Given the description of an element on the screen output the (x, y) to click on. 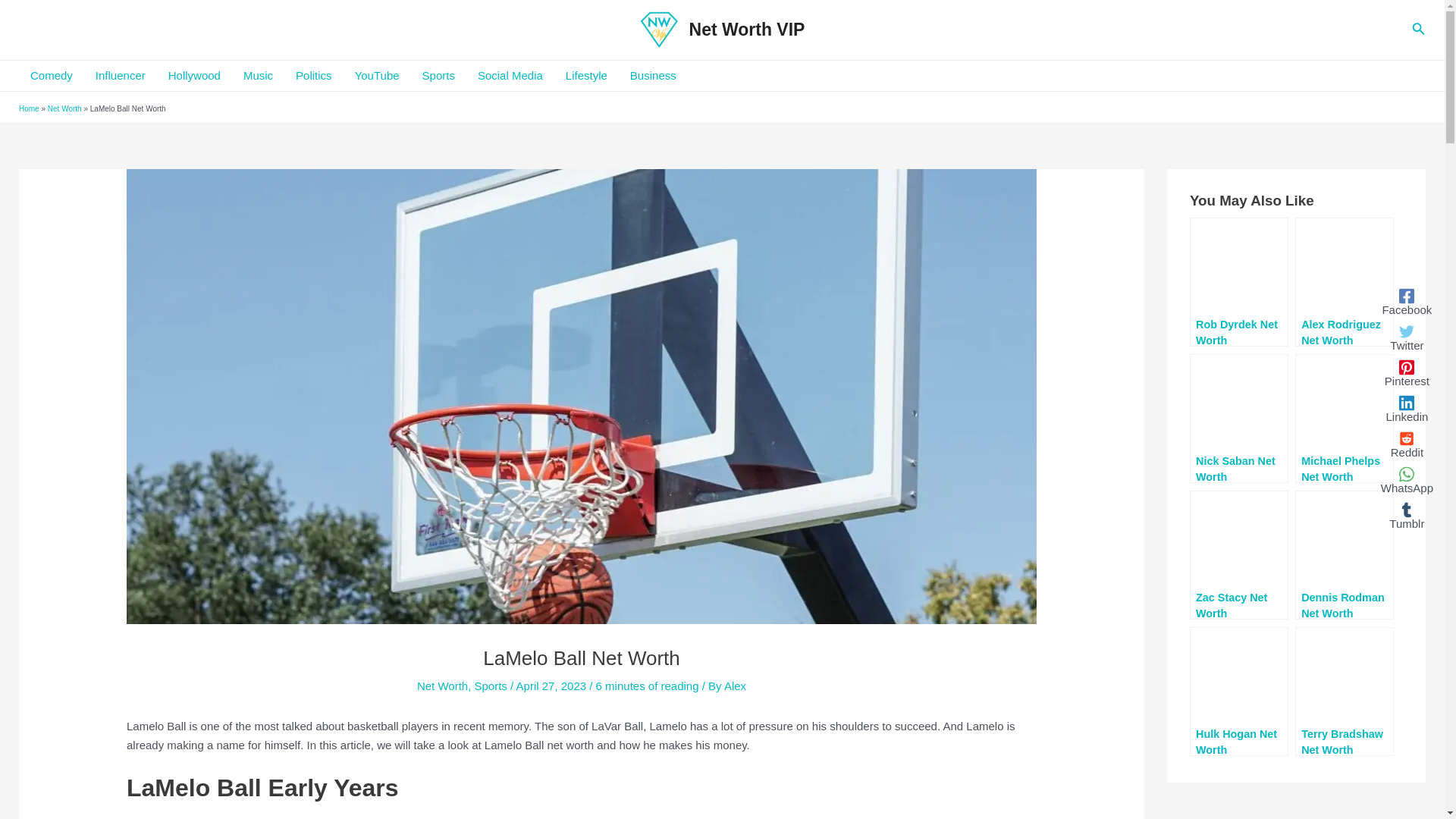
Lifestyle (586, 75)
Music (257, 75)
Net Worth VIP (746, 29)
YouTube (376, 75)
Hollywood (194, 75)
Social Media (509, 75)
Politics (313, 75)
Business (652, 75)
Comedy (51, 75)
Influencer (120, 75)
View all posts by Alex (734, 685)
Sports (437, 75)
